Given the description of an element on the screen output the (x, y) to click on. 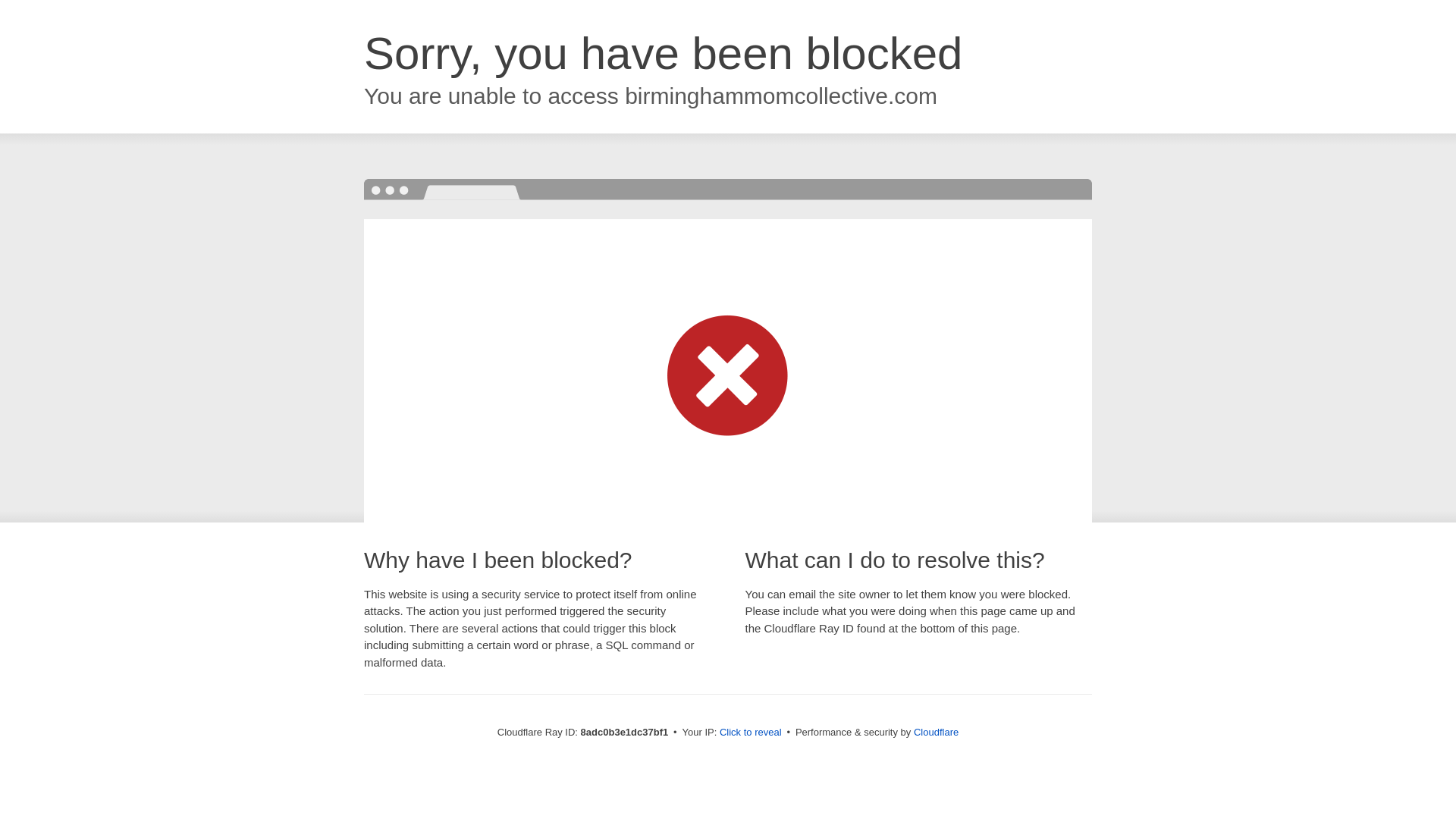
Click to reveal (750, 732)
Cloudflare (936, 731)
